Given the description of an element on the screen output the (x, y) to click on. 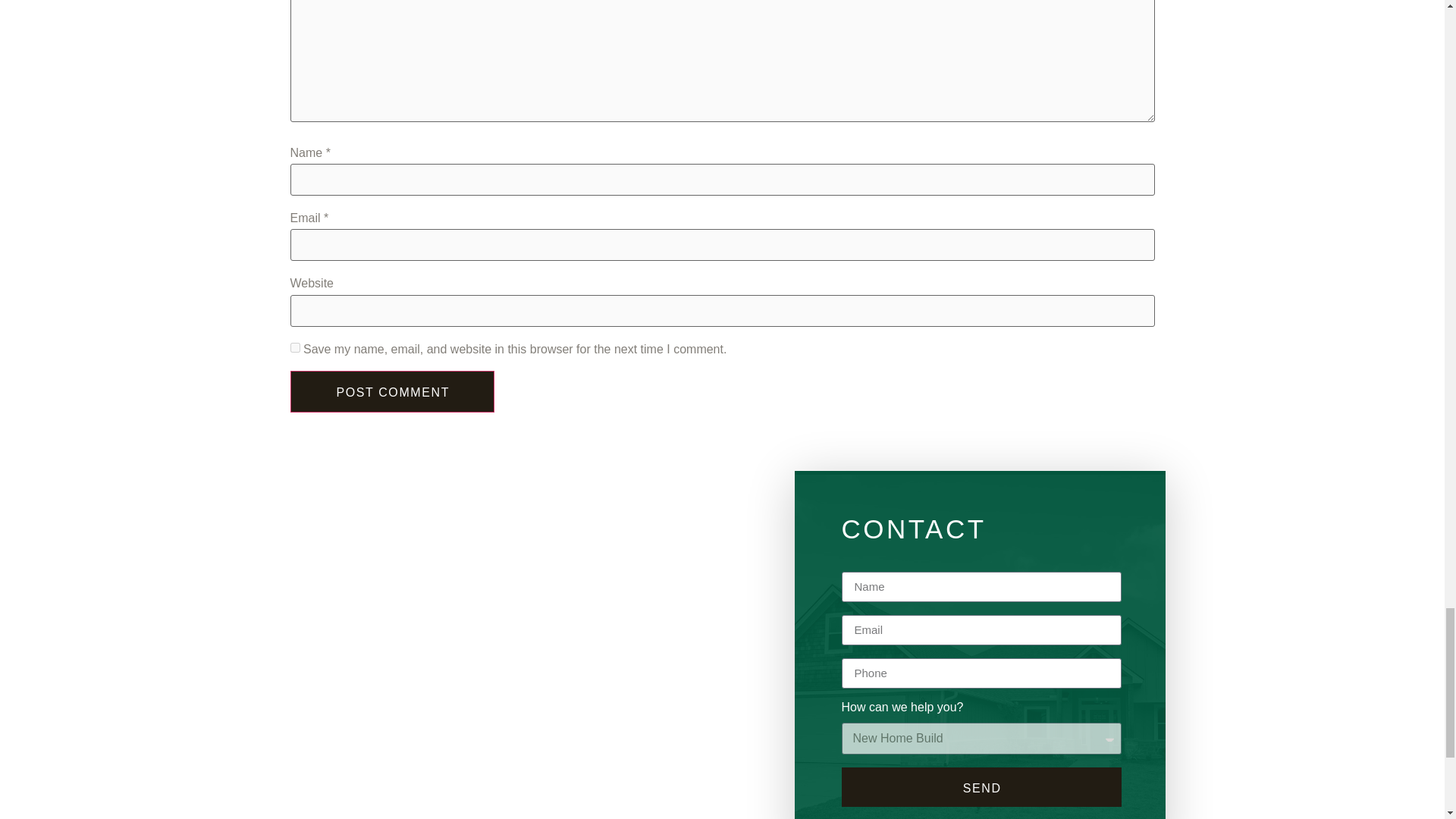
yes (294, 347)
SEND (981, 786)
Post Comment (392, 391)
Post Comment (392, 391)
207 That Way St. Ste. A2 Lake Jackson, TX 77566 (512, 715)
